Given the description of an element on the screen output the (x, y) to click on. 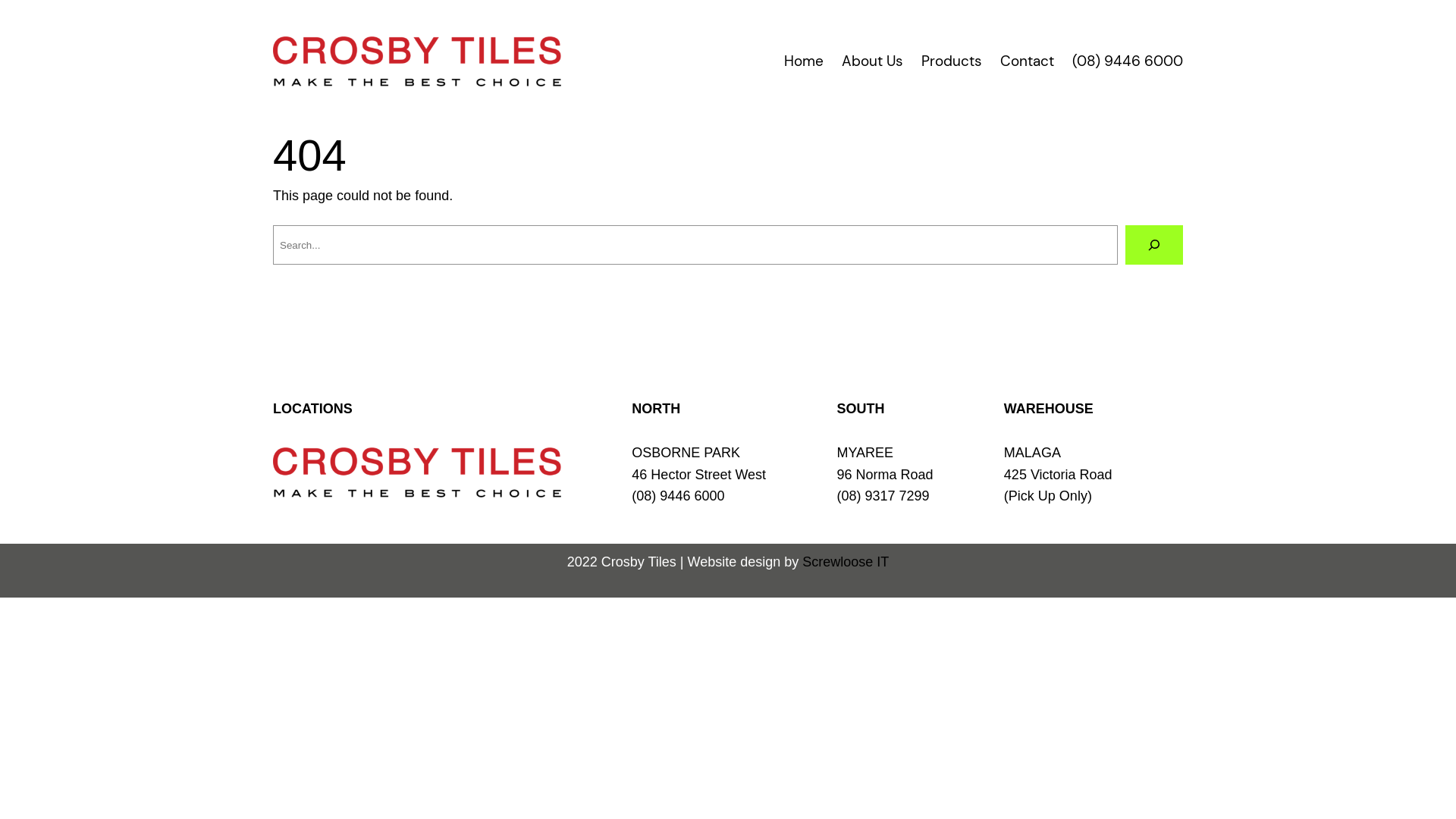
(08) 9446 6000 Element type: text (677, 495)
Home Element type: text (803, 61)
Contact Element type: text (1027, 61)
Products Element type: text (951, 61)
MYAREE
96 Norma Road Element type: text (884, 463)
(08) 9317 7299 Element type: text (882, 495)
MALAGA
425 Victoria Road Element type: text (1058, 463)
Screwloose IT Element type: text (845, 561)
OSBORNE PARK
46 Hector Street West Element type: text (698, 463)
(08) 9446 6000 Element type: text (1127, 61)
About Us Element type: text (872, 61)
